Given the description of an element on the screen output the (x, y) to click on. 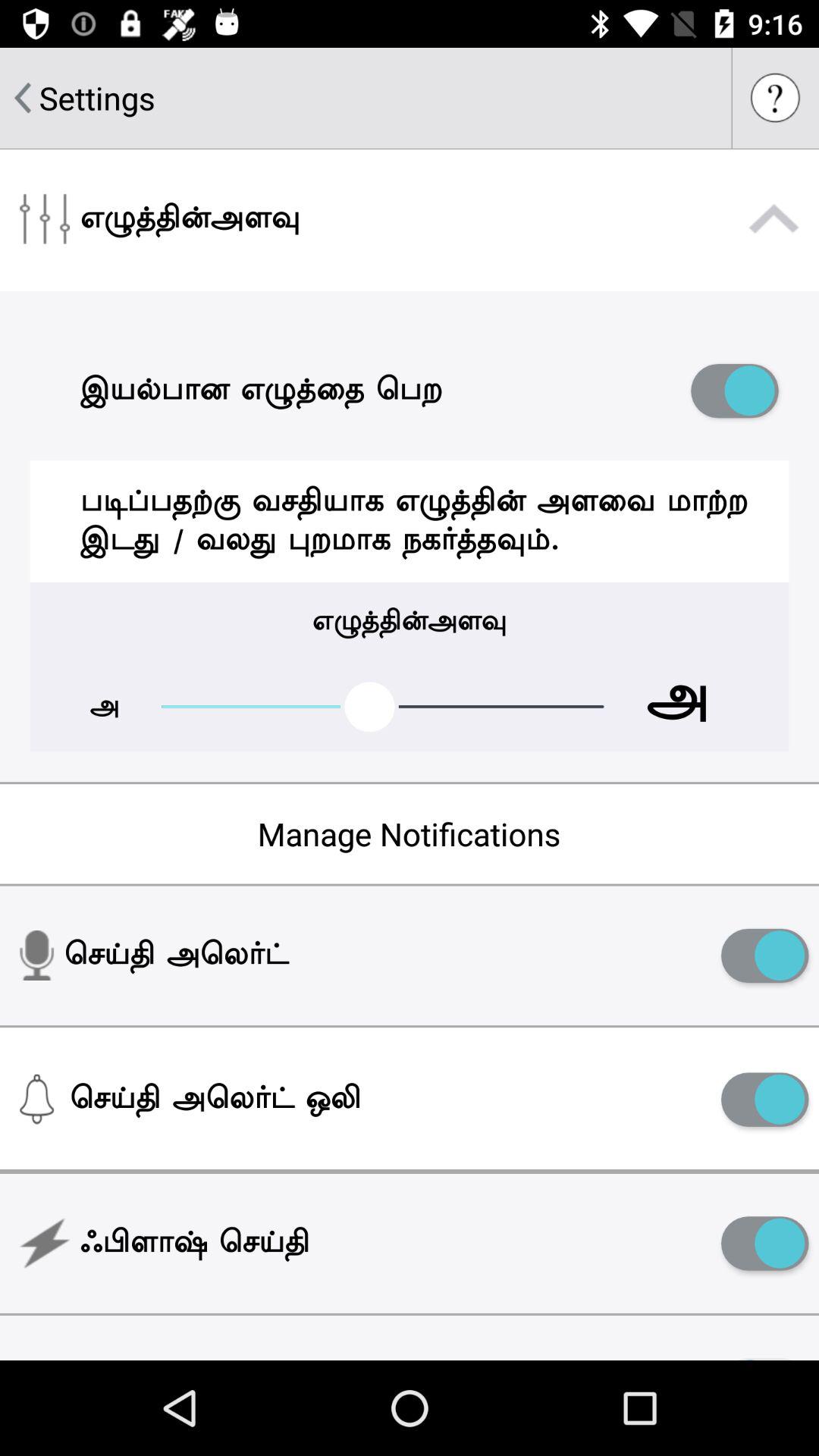
access help (775, 97)
